Given the description of an element on the screen output the (x, y) to click on. 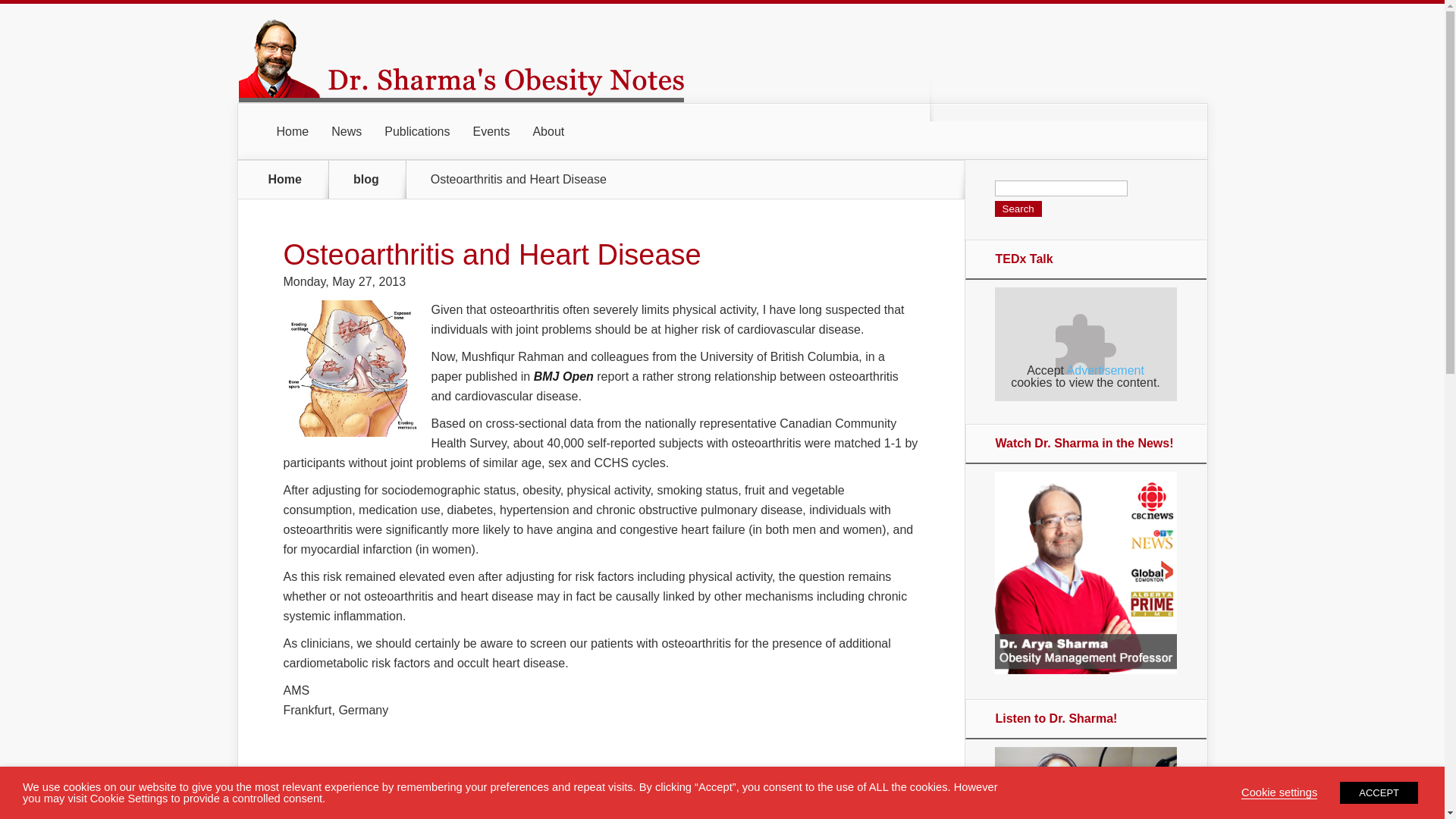
Home (285, 179)
Advertisement (1105, 369)
BMJ Open (564, 376)
About (548, 131)
Search (1018, 208)
Publications (416, 131)
News (346, 131)
blog (375, 179)
Events (491, 131)
Search (1018, 208)
